Given the description of an element on the screen output the (x, y) to click on. 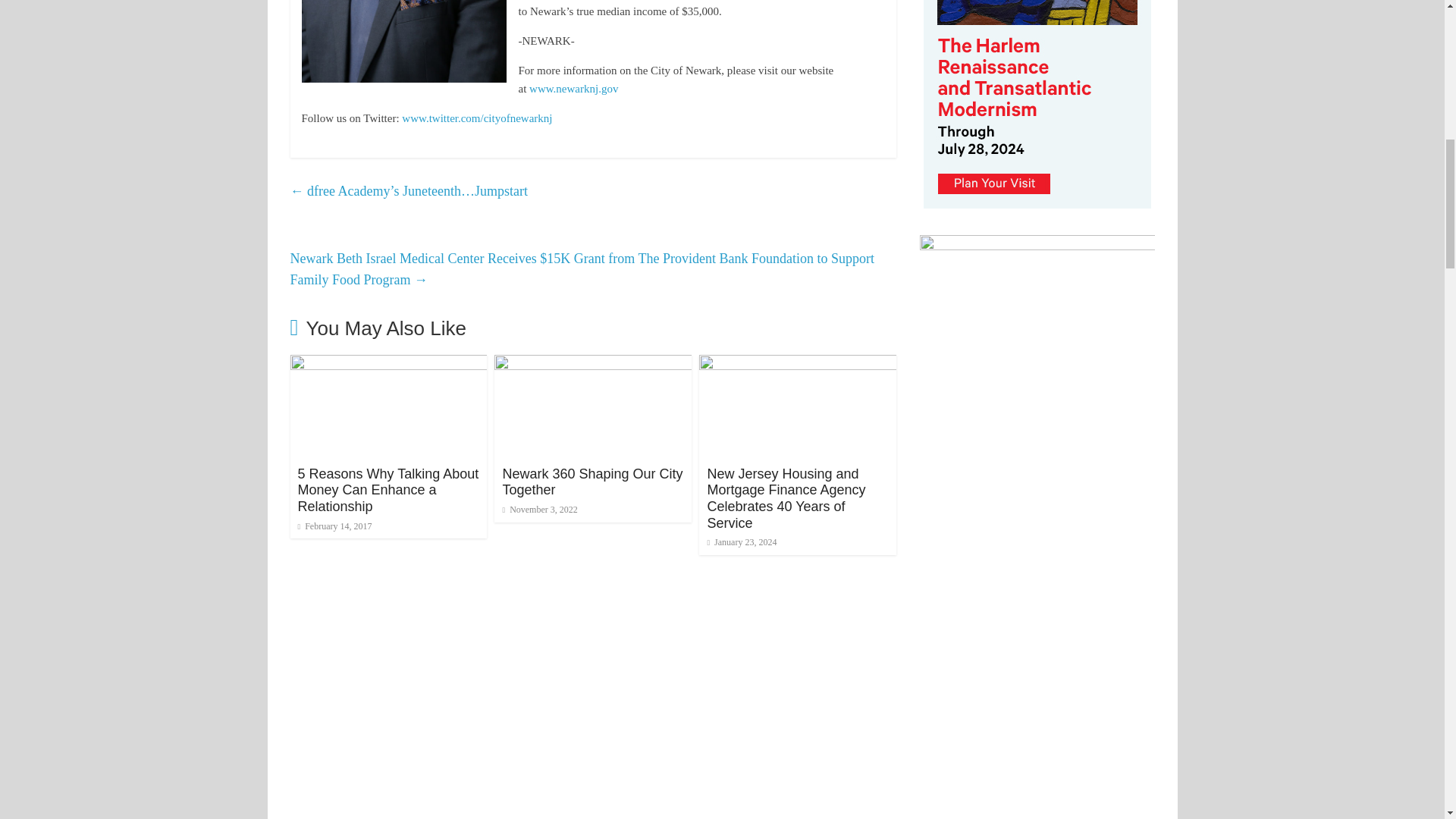
1:50 am (539, 509)
Newark 360 Shaping Our City Together (593, 364)
5 Reasons Why Talking About Money Can Enhance a Relationship (388, 490)
Newark 360 Shaping Our City Together (592, 481)
www.newarknj.gov (573, 88)
February 14, 2017 (334, 525)
5 Reasons Why Talking About Money Can Enhance a Relationship (388, 490)
5 Reasons Why Talking About Money Can Enhance a Relationship (387, 364)
11:45 am (334, 525)
